Given the description of an element on the screen output the (x, y) to click on. 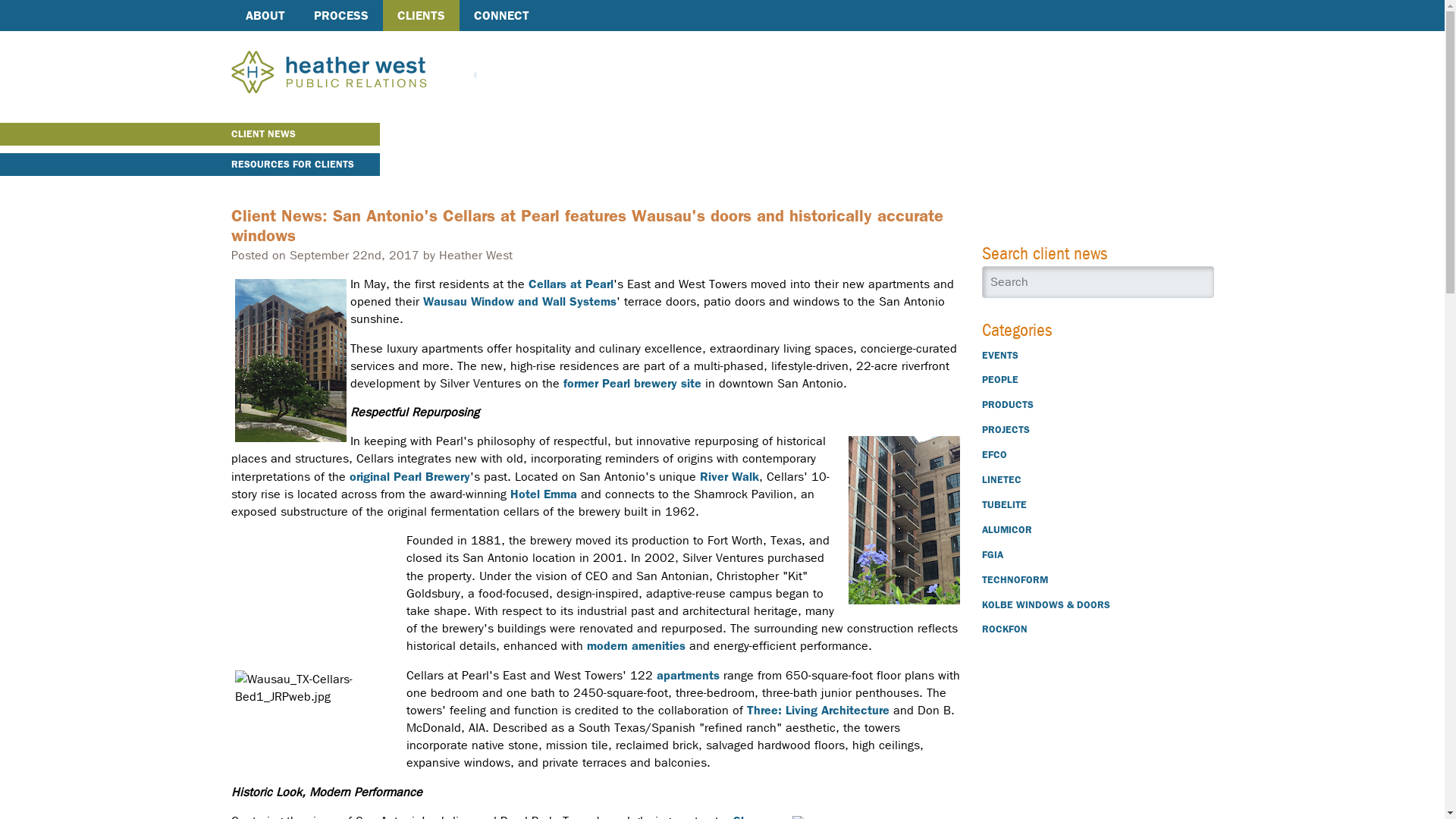
CLIENTS (419, 15)
PROCESS (339, 15)
ABOUT (264, 15)
Go (1202, 281)
Go (1202, 281)
Heather West Public Relations (353, 73)
